Given the description of an element on the screen output the (x, y) to click on. 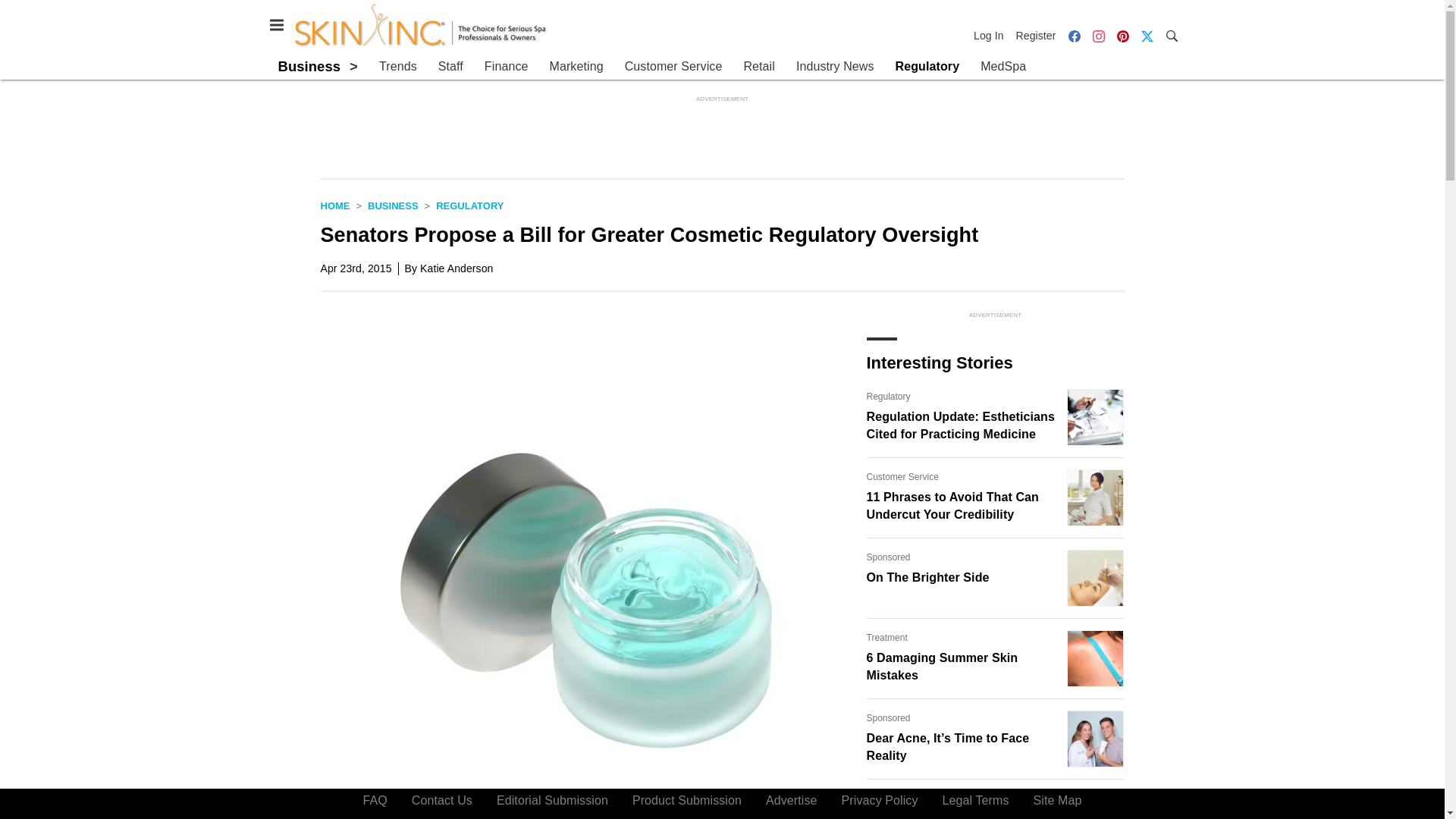
Instagram icon (1097, 35)
Staff (450, 66)
Customer Service (673, 66)
Twitter X icon (1146, 35)
Register (1036, 35)
Retail (758, 66)
Trends (397, 66)
Instagram icon (1097, 36)
Twitter X icon (1146, 36)
Search (1170, 34)
Marketing (575, 66)
Business (392, 205)
Facebook icon (1073, 36)
Home (334, 205)
Sponsored (888, 717)
